Given the description of an element on the screen output the (x, y) to click on. 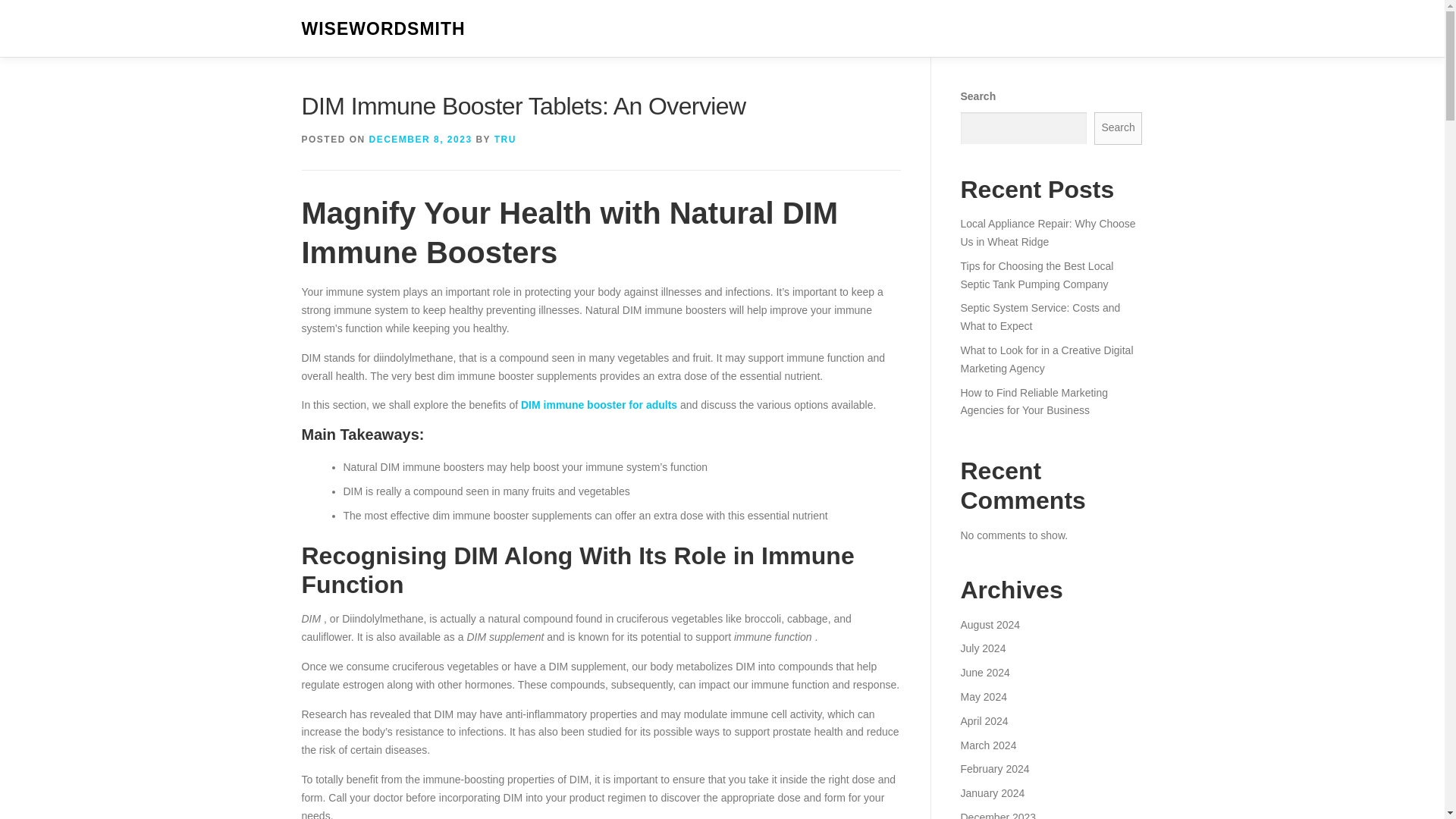
April 2024 (983, 720)
January 2024 (992, 793)
July 2024 (982, 648)
DECEMBER 8, 2023 (420, 139)
June 2024 (984, 672)
May 2024 (982, 696)
March 2024 (987, 744)
How to Find Reliable Marketing Agencies for Your Business (1033, 401)
Tips for Choosing the Best Local Septic Tank Pumping Company (1036, 275)
What to Look for in a Creative Digital Marketing Agency (1045, 358)
